Given the description of an element on the screen output the (x, y) to click on. 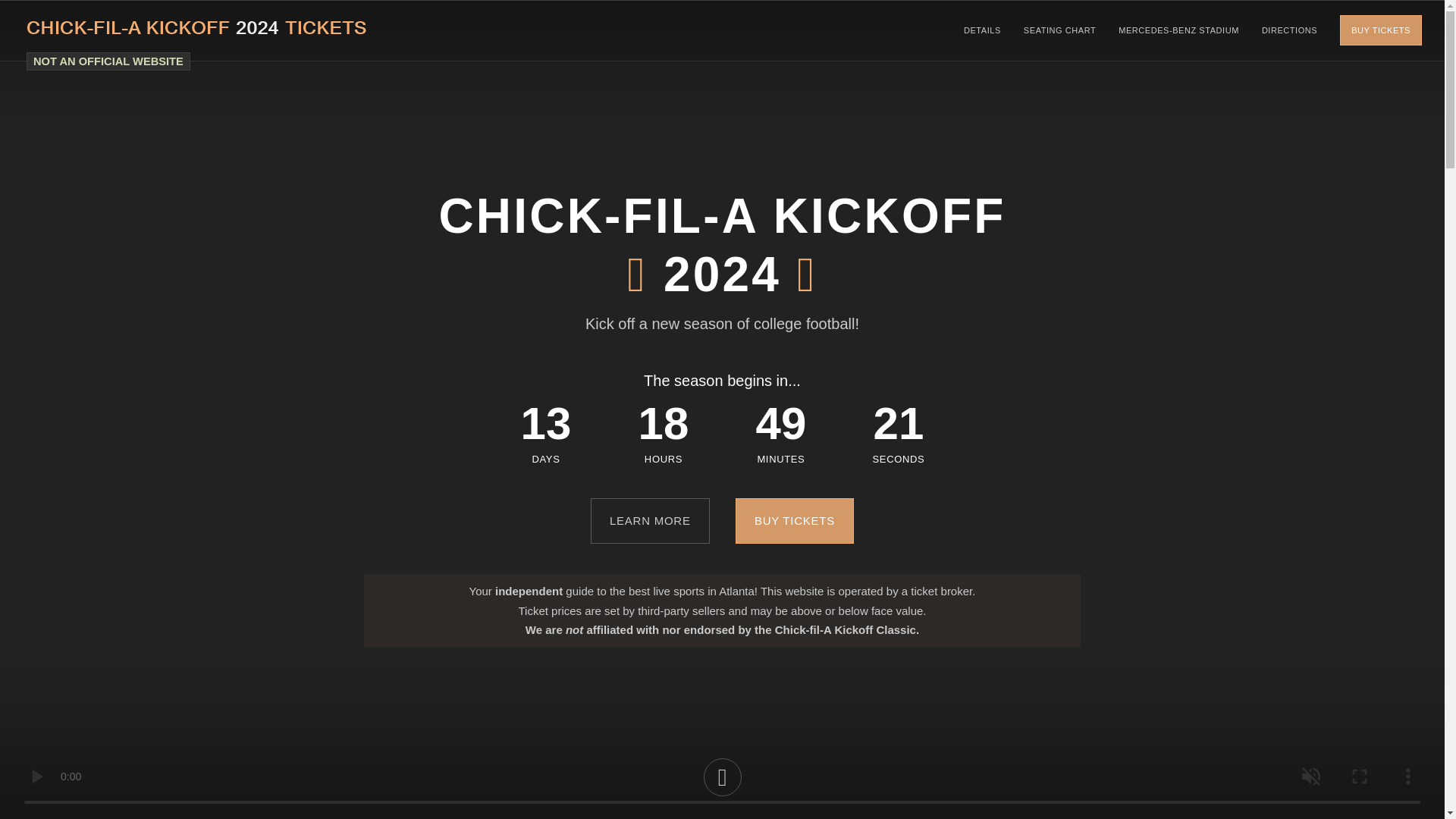
DETAILS (982, 29)
BUY TICKETS (1380, 30)
This website is operated by a ticket broker. (108, 61)
SEATING CHART (1059, 29)
LEARN MORE (650, 520)
BUY TICKETS (794, 520)
DIRECTIONS (1289, 29)
MERCEDES-BENZ STADIUM (1178, 29)
